Given the description of an element on the screen output the (x, y) to click on. 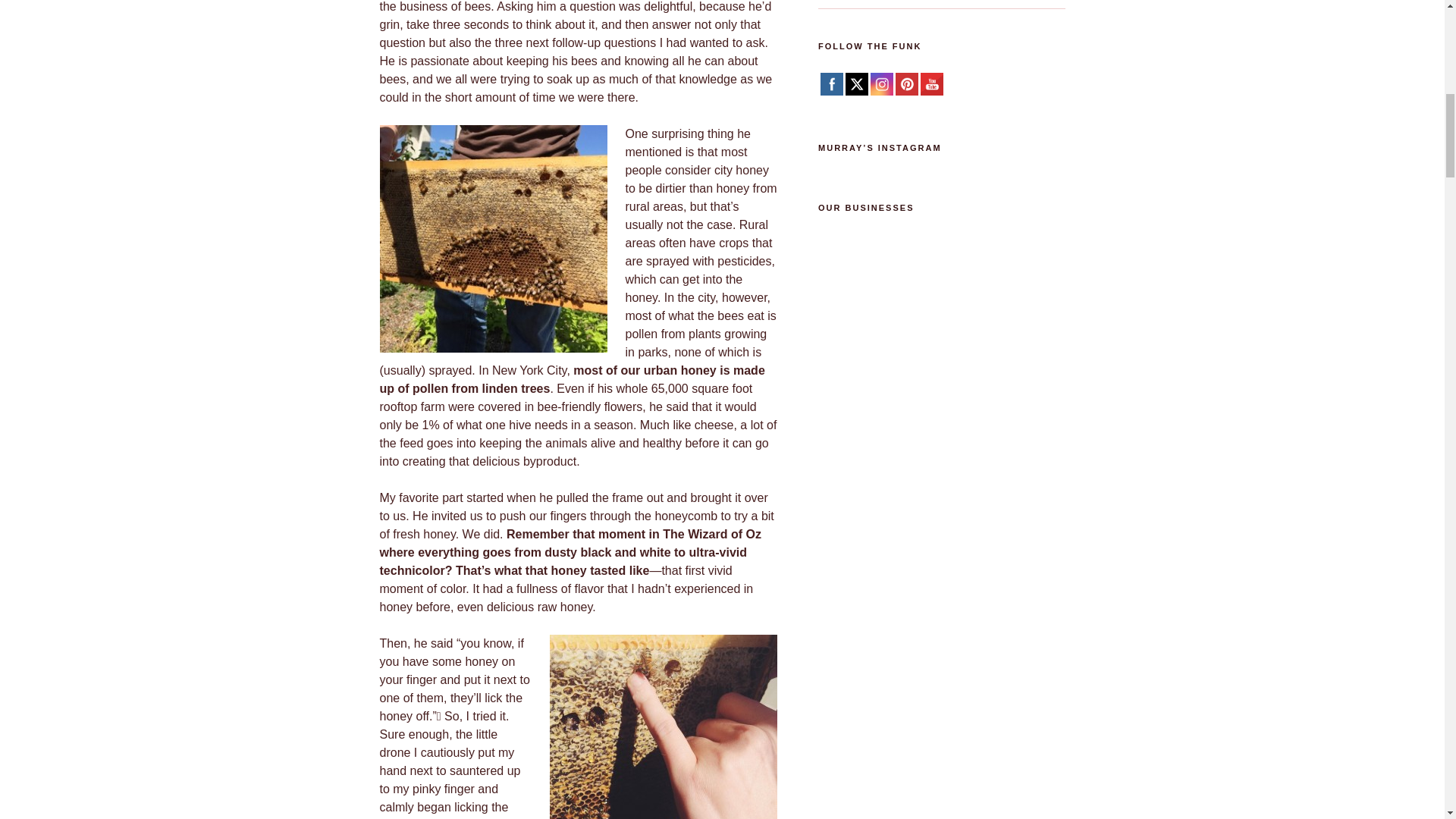
Facebook (831, 83)
YOUTUBE (932, 83)
Twitter (856, 84)
Pinterest (907, 83)
Instagram (882, 83)
